Given the description of an element on the screen output the (x, y) to click on. 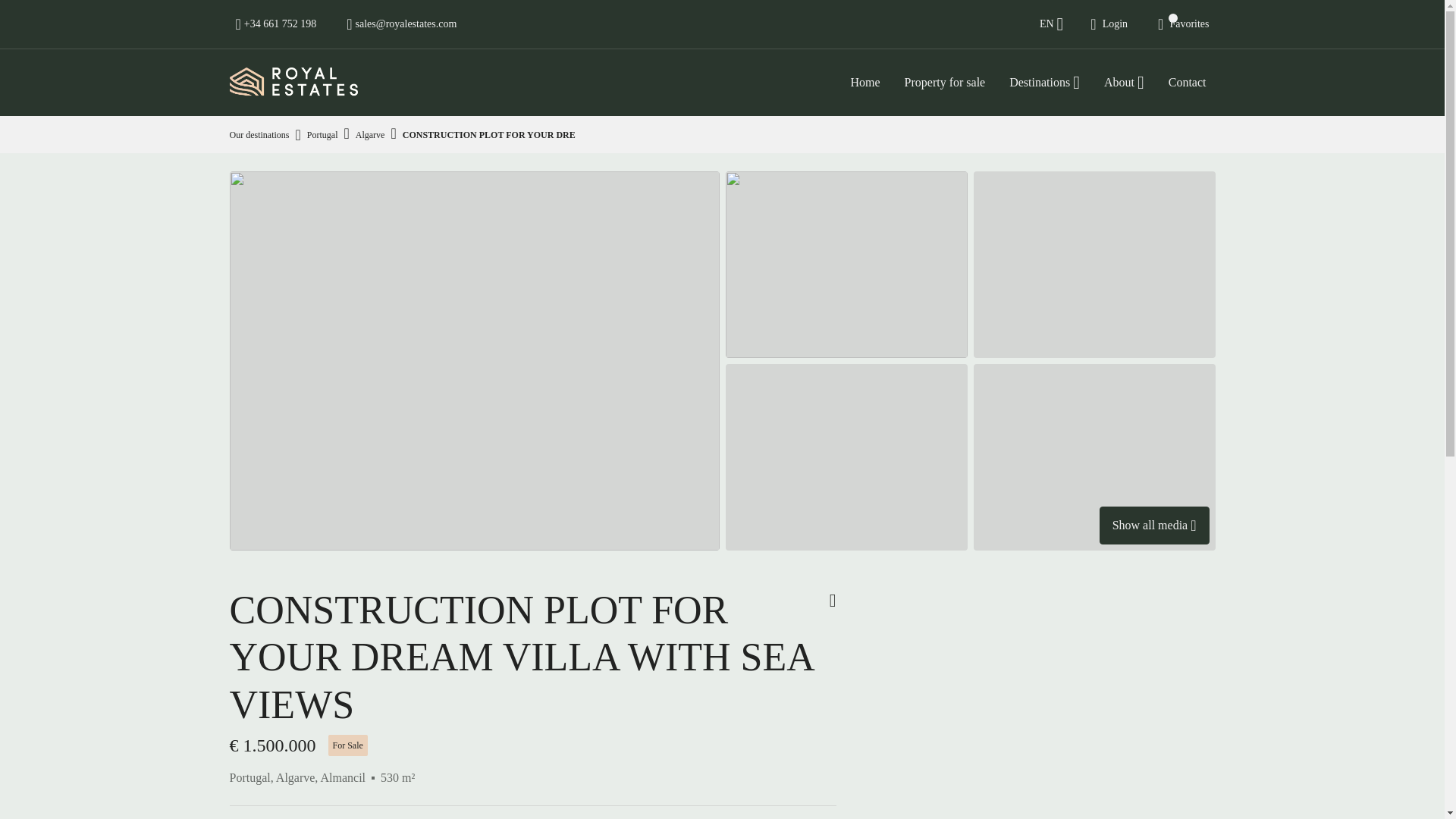
Portugal (322, 135)
Favorites (1182, 24)
Algarve (370, 135)
Property for sale (944, 82)
Home (864, 82)
About (1123, 82)
Destinations (1044, 82)
Our destinations (258, 134)
Contact (1186, 82)
Login (1109, 24)
